Given the description of an element on the screen output the (x, y) to click on. 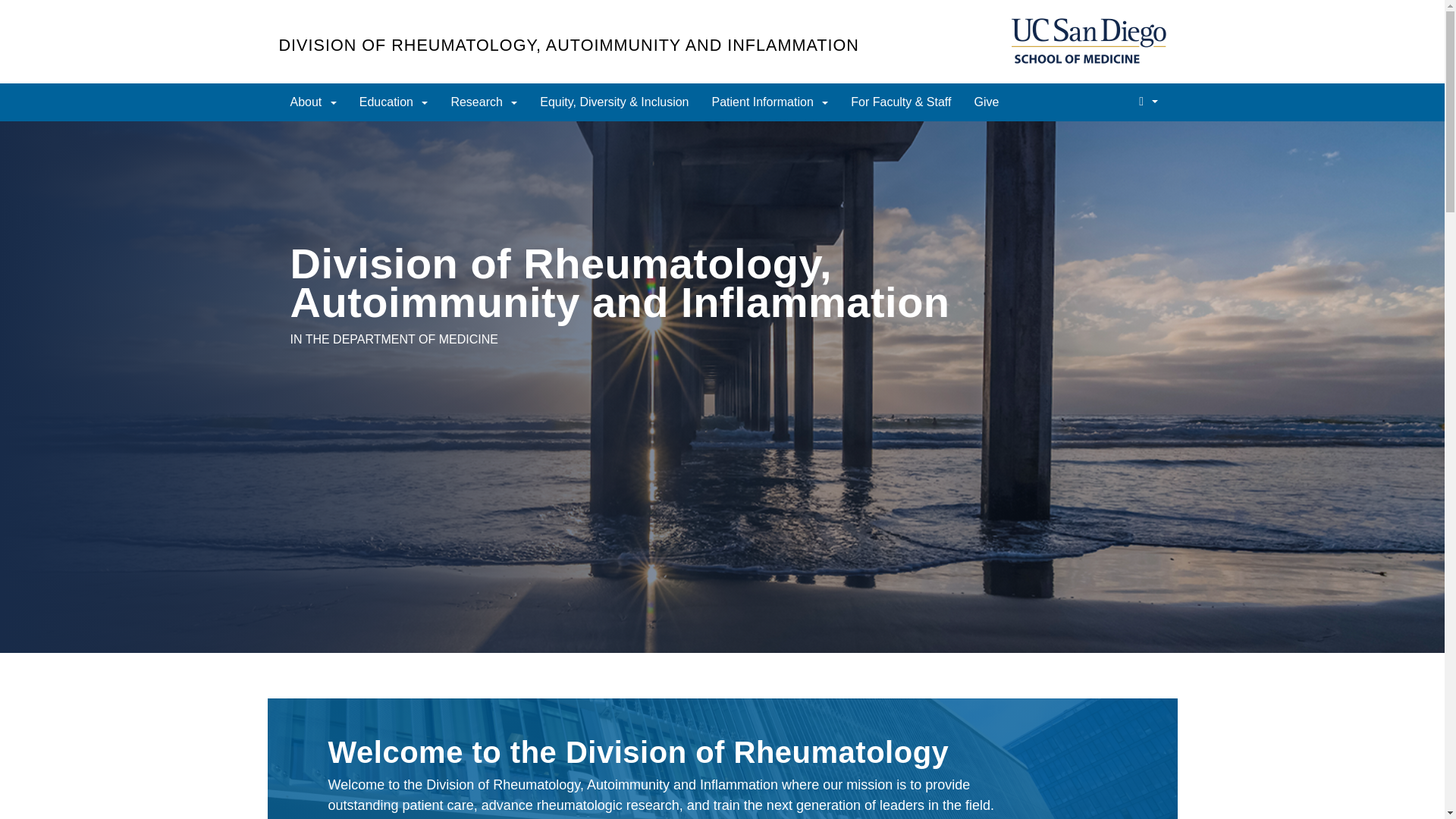
Research (483, 102)
UC San Diego School of Medicine (1088, 40)
About (313, 102)
Education (393, 102)
DIVISION OF RHEUMATOLOGY, AUTOIMMUNITY AND INFLAMMATION (569, 45)
